Given the description of an element on the screen output the (x, y) to click on. 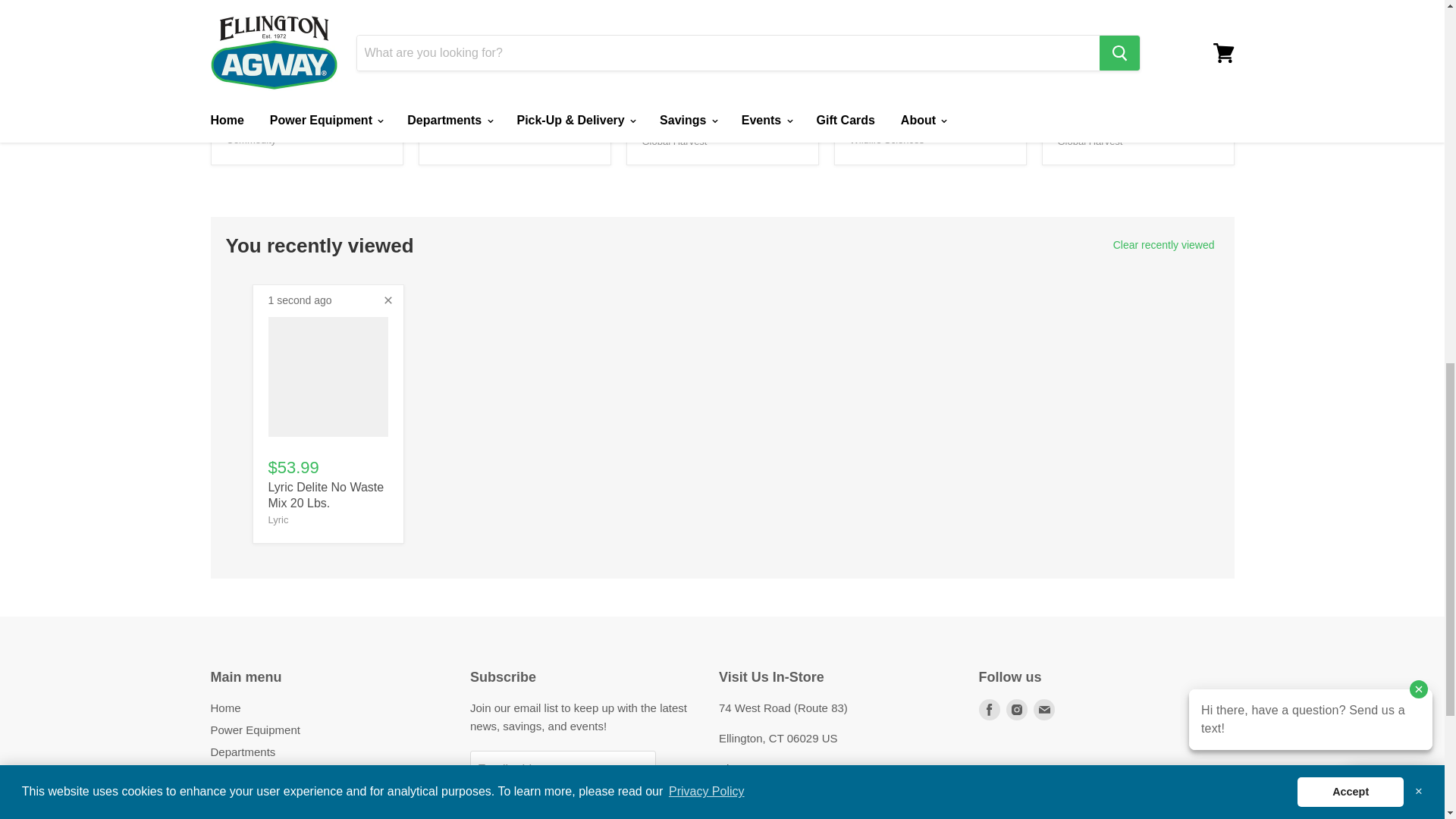
Instagram (1016, 709)
Facebook (989, 709)
E-mail (1043, 709)
